Given the description of an element on the screen output the (x, y) to click on. 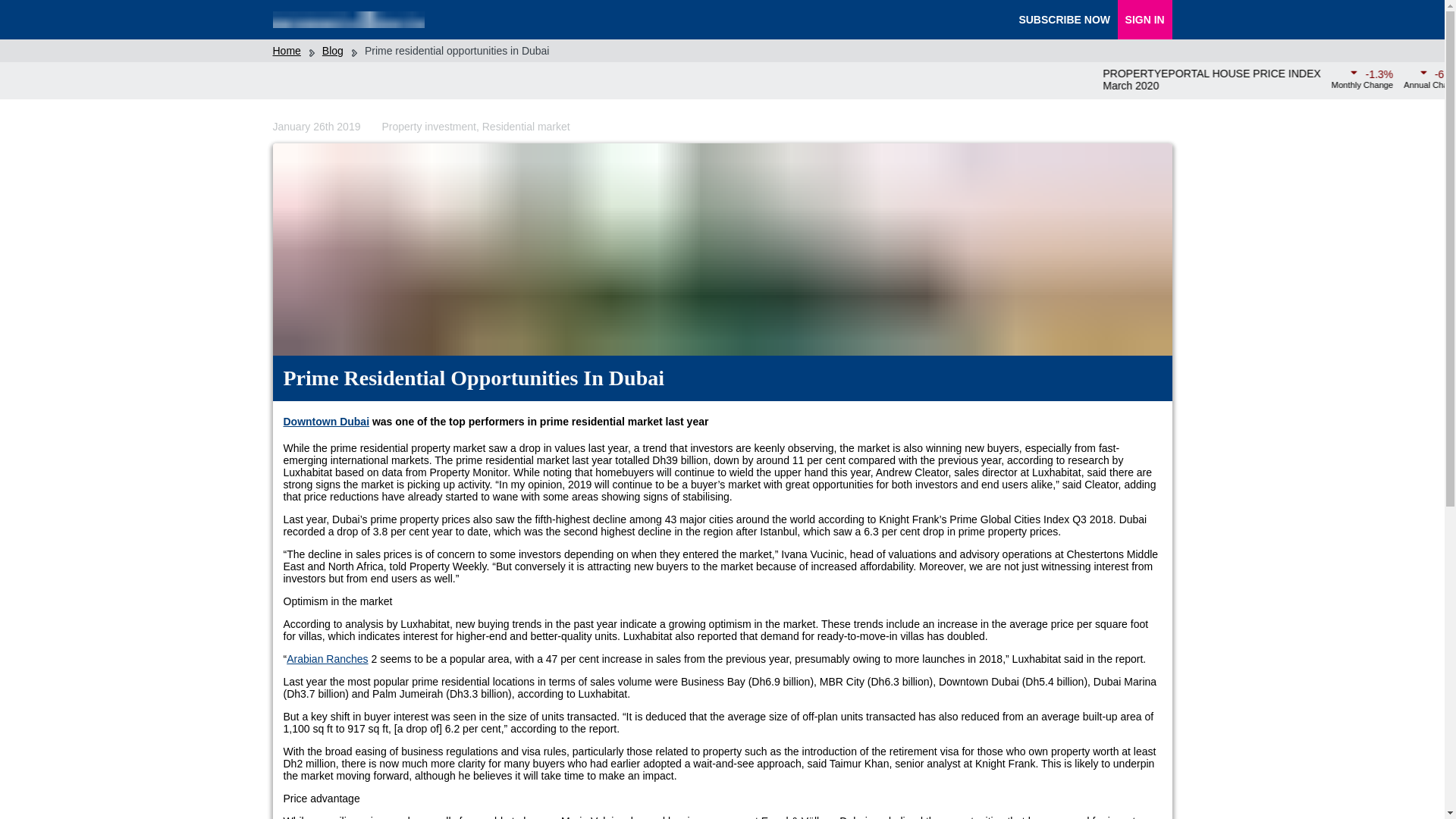
Downtown Dubai (326, 421)
Arabian Ranches (327, 658)
Blog (332, 50)
Sign in (1145, 19)
Home (419, 19)
SIGN IN (1145, 19)
Home (287, 50)
